Given the description of an element on the screen output the (x, y) to click on. 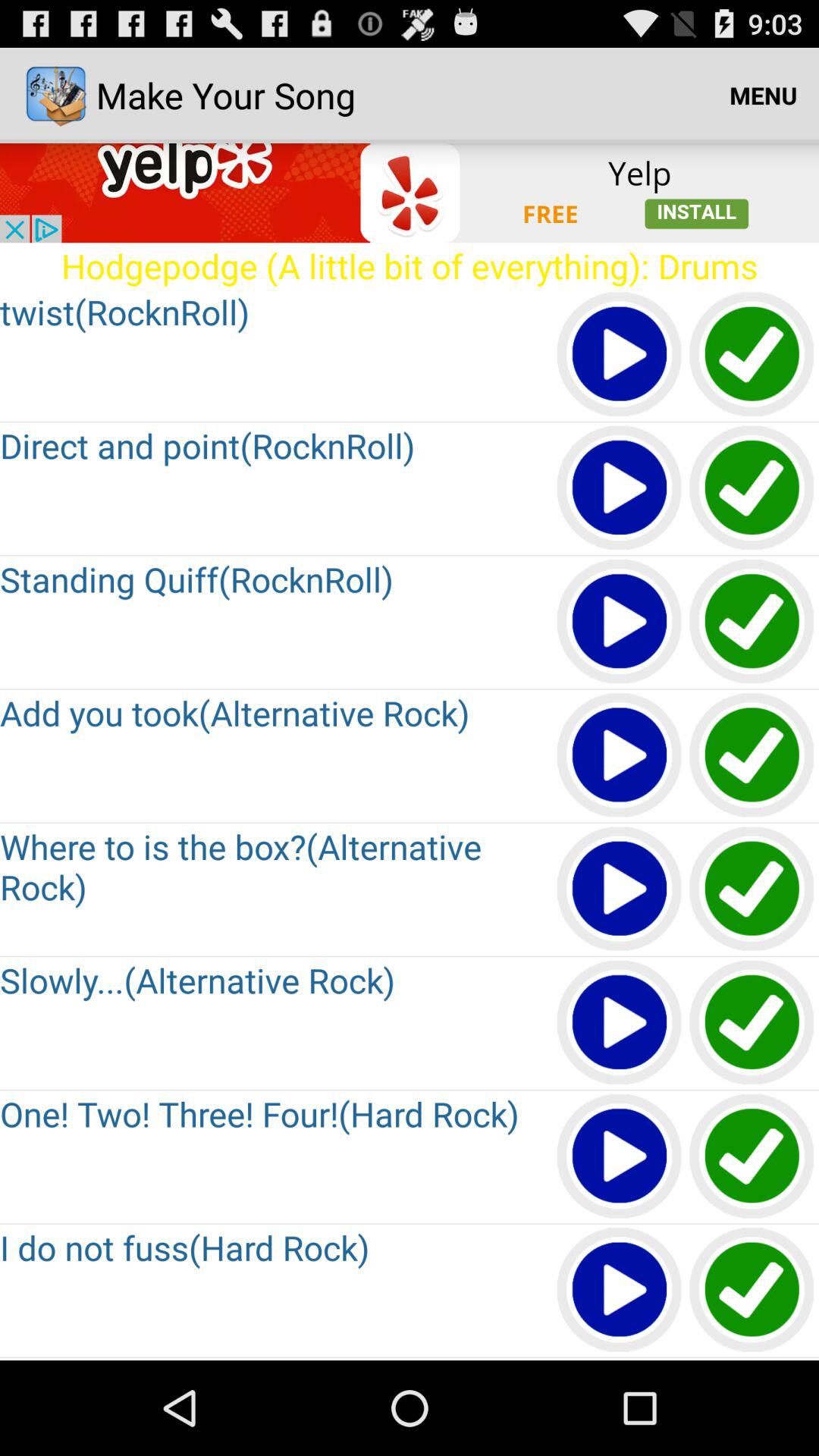
play button (619, 622)
